Given the description of an element on the screen output the (x, y) to click on. 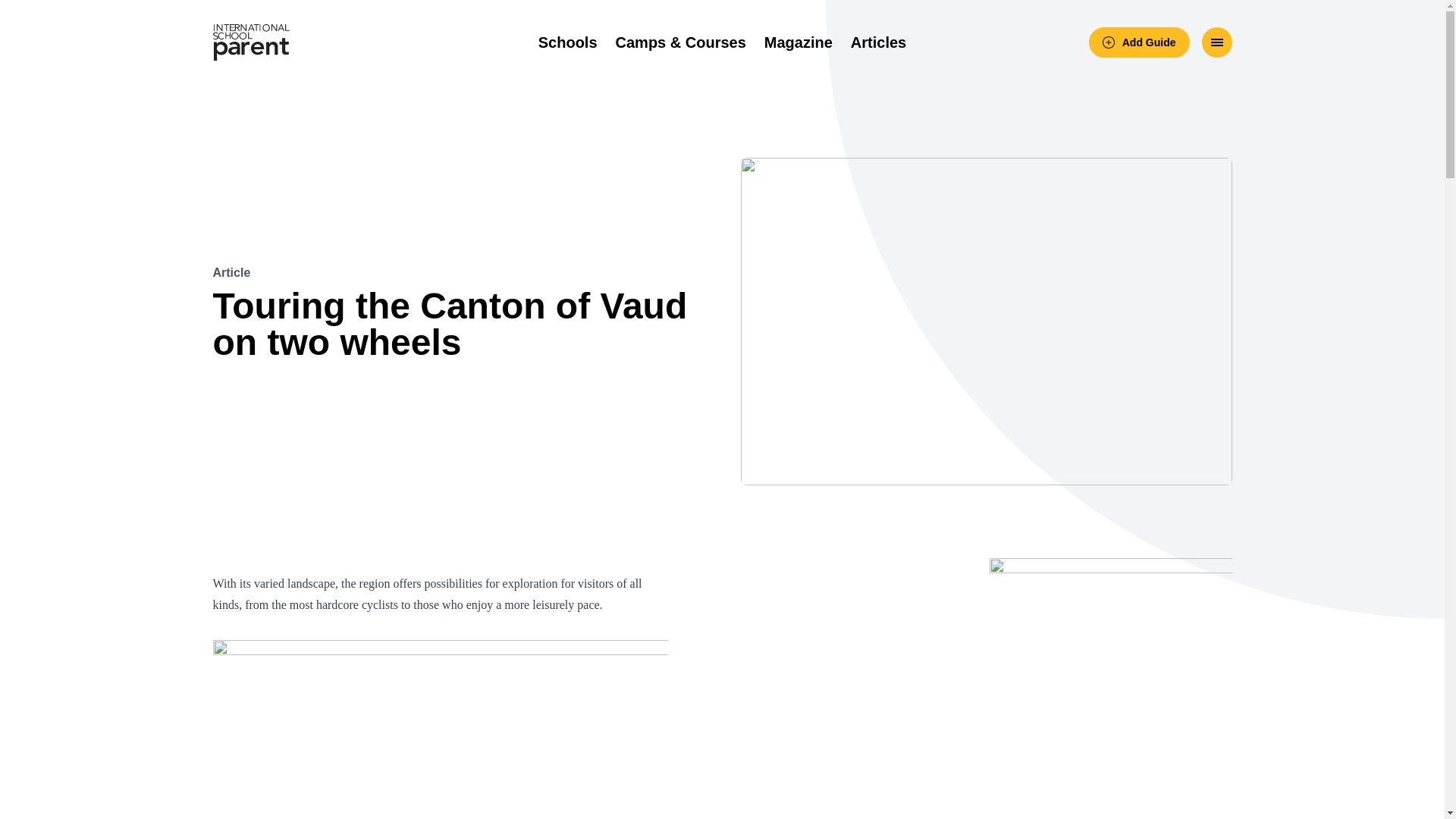
Schools (567, 42)
Magazine (798, 42)
Open mobile navigation (1216, 42)
Add Guide (1139, 42)
Articles (877, 42)
